Given the description of an element on the screen output the (x, y) to click on. 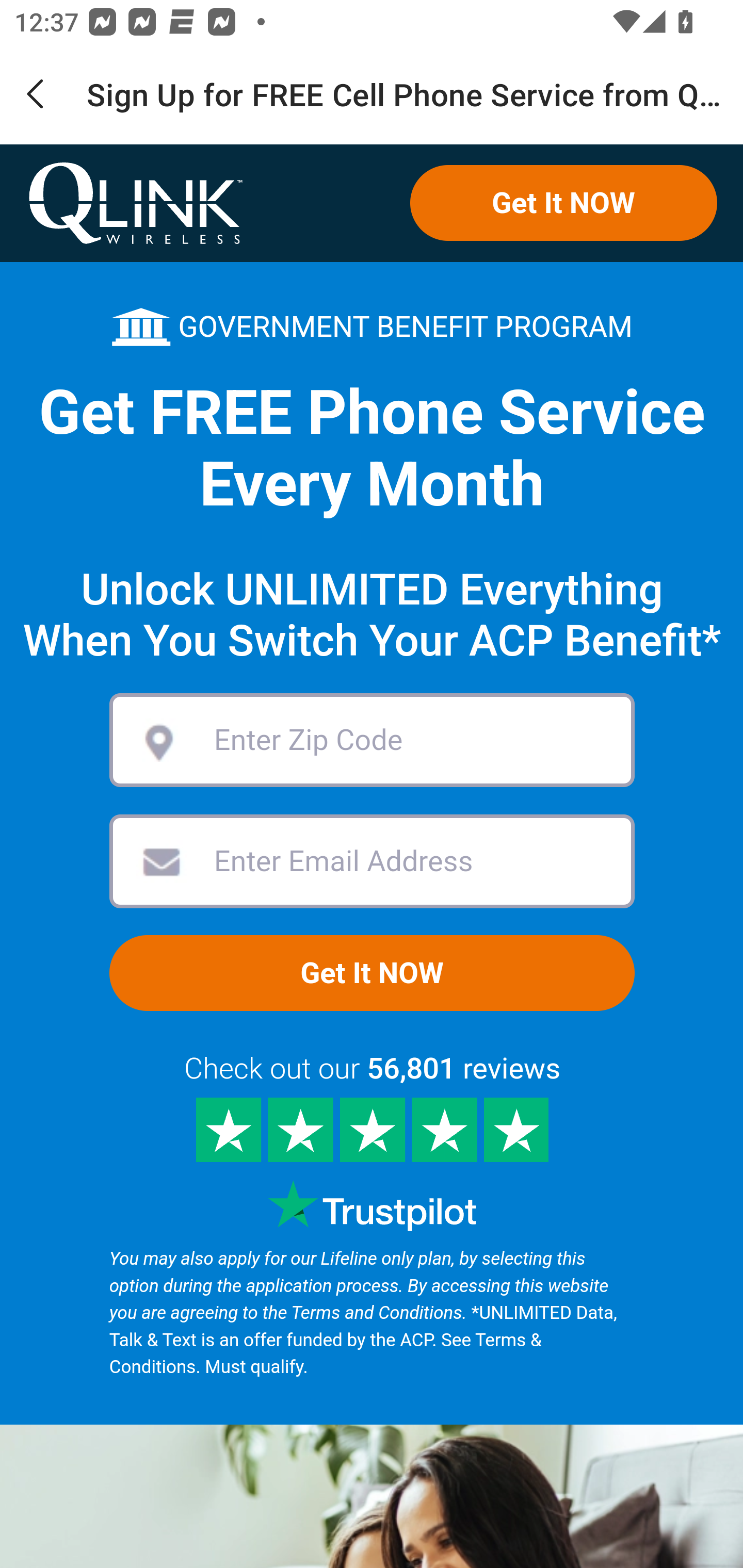
Get It NOW (562, 202)
Get It NOW (372, 973)
4.8 out of five star rating on Trustpilot (371, 1129)
Trustpilot (372, 1205)
